Given the description of an element on the screen output the (x, y) to click on. 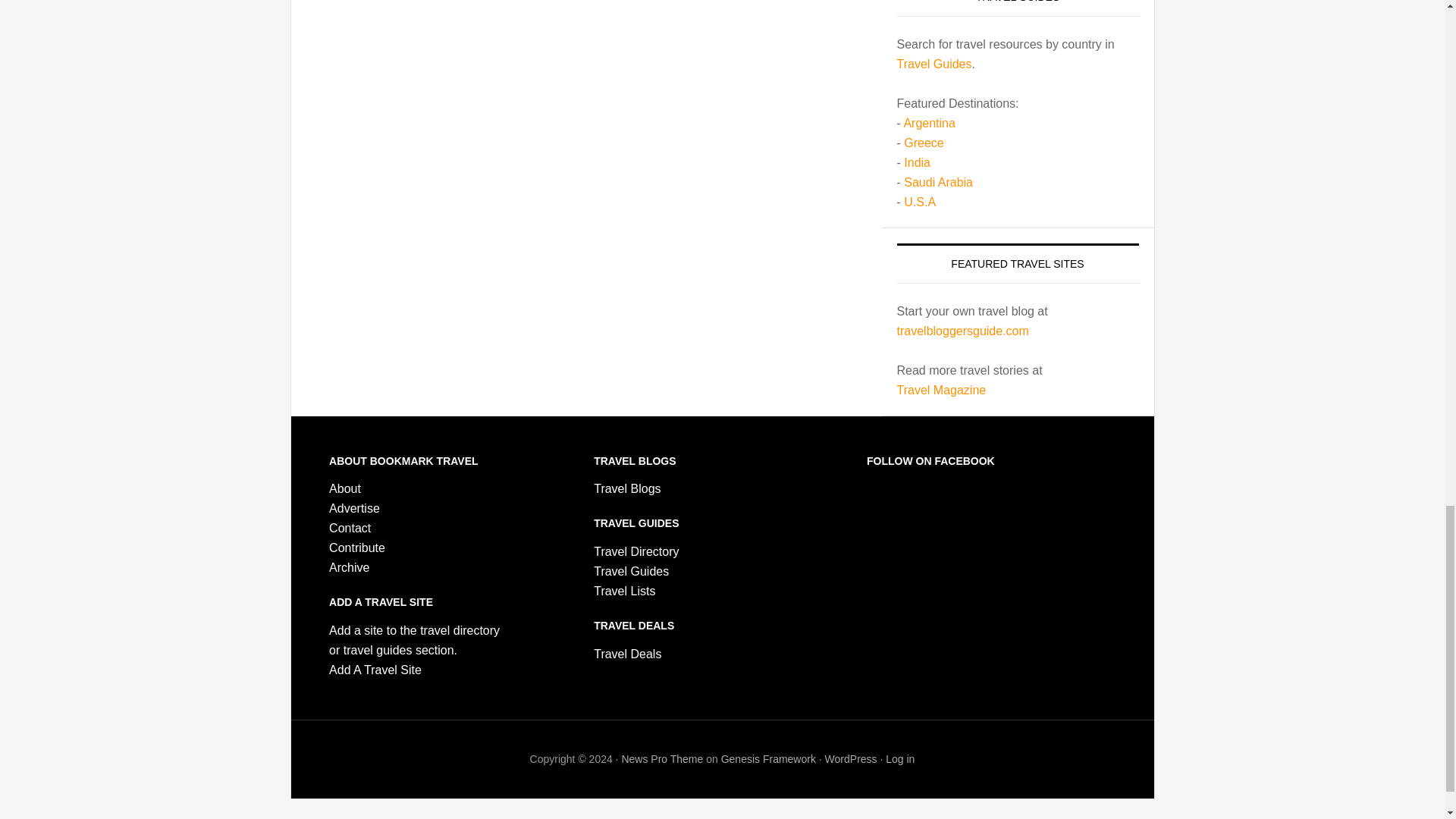
Argentina (928, 123)
Travel Lists (624, 590)
Travel Deals (627, 653)
Advertise (354, 508)
Archive (349, 567)
Contribute (357, 547)
Greece (923, 142)
travelbloggersguide.com (961, 330)
India (917, 162)
U.S.A (920, 201)
Saudi Arabia (938, 182)
News Pro Theme (662, 758)
Add A Travel Site (375, 669)
About (345, 488)
Travel Guides (933, 63)
